Given the description of an element on the screen output the (x, y) to click on. 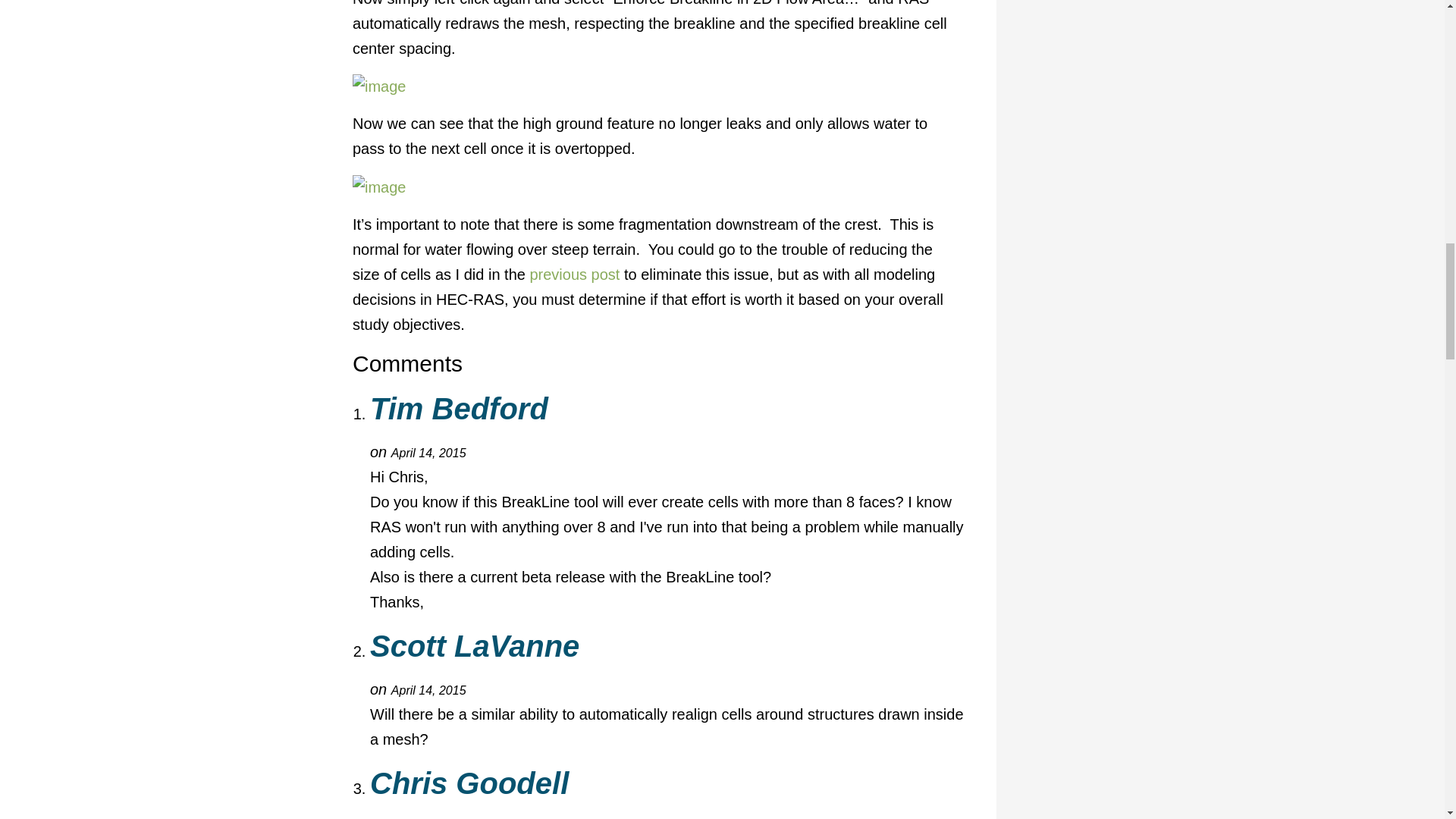
image (379, 187)
image (379, 86)
previous post (574, 274)
